Given the description of an element on the screen output the (x, y) to click on. 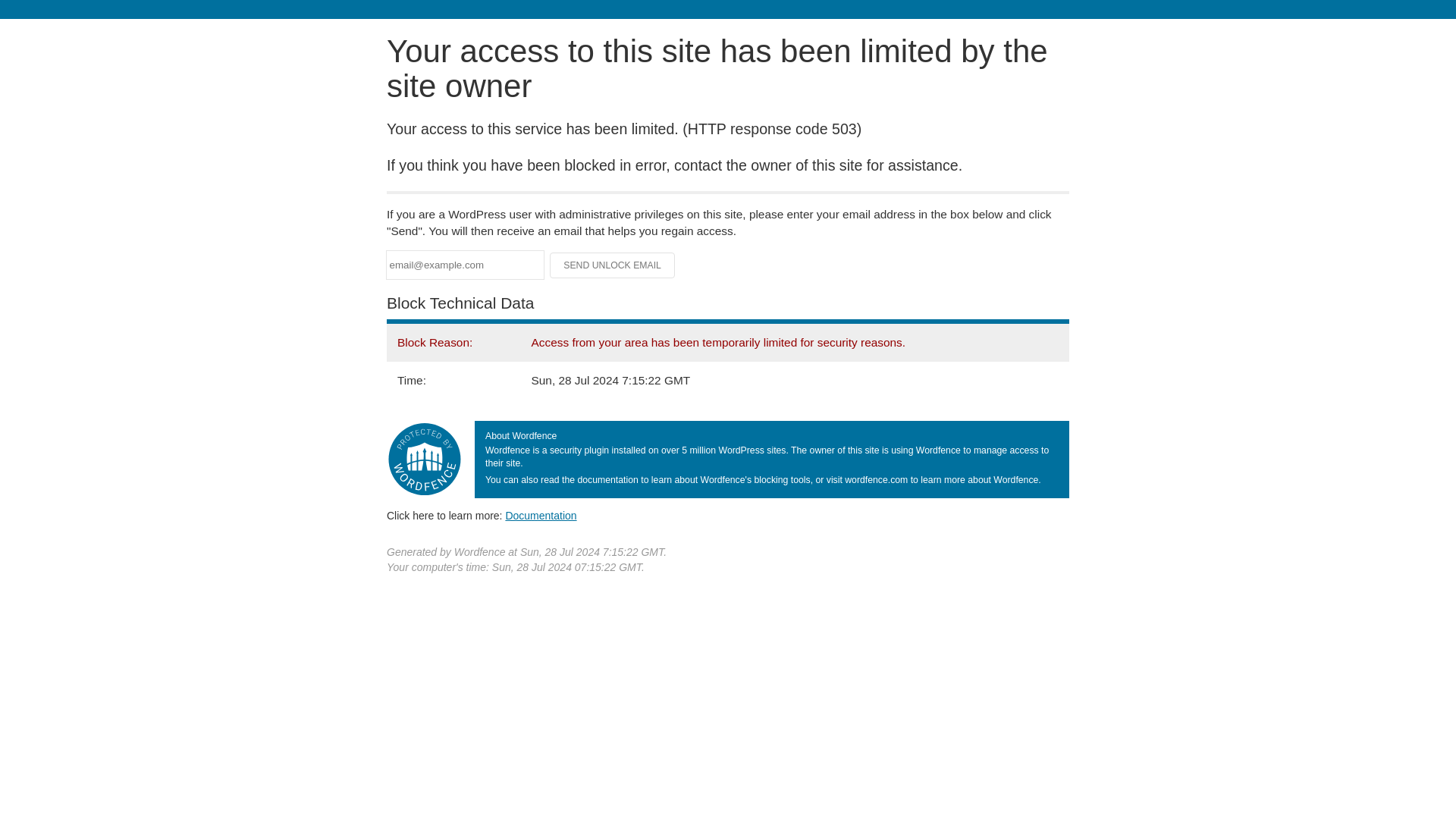
Send Unlock Email (612, 265)
Documentation (540, 515)
Send Unlock Email (612, 265)
